Given the description of an element on the screen output the (x, y) to click on. 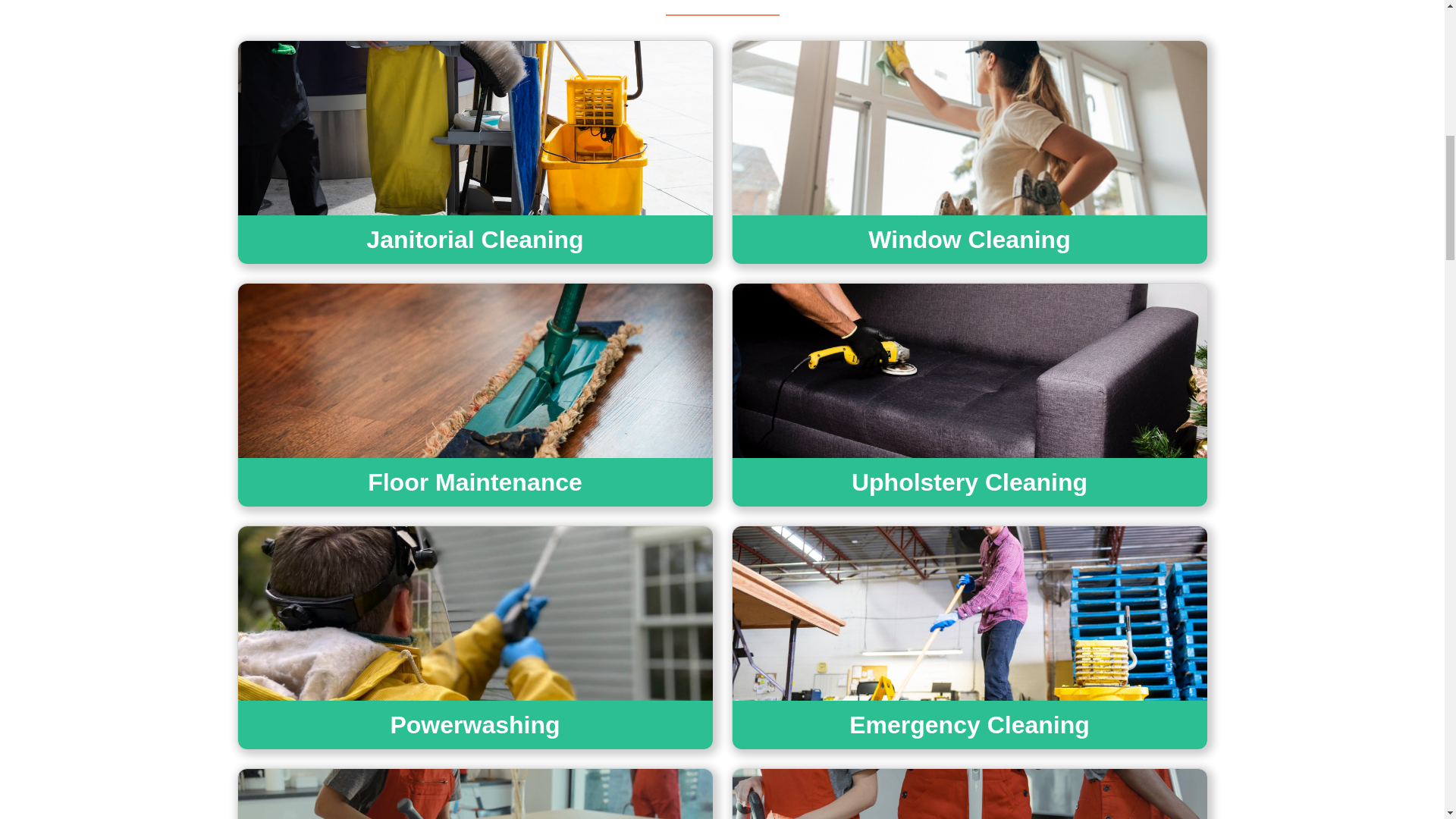
Floor Maintenance (475, 486)
Upholstery Cleaning (969, 486)
Janitorial Cleaning (474, 243)
Window Cleaning (968, 243)
Powerwashing (474, 728)
